Given the description of an element on the screen output the (x, y) to click on. 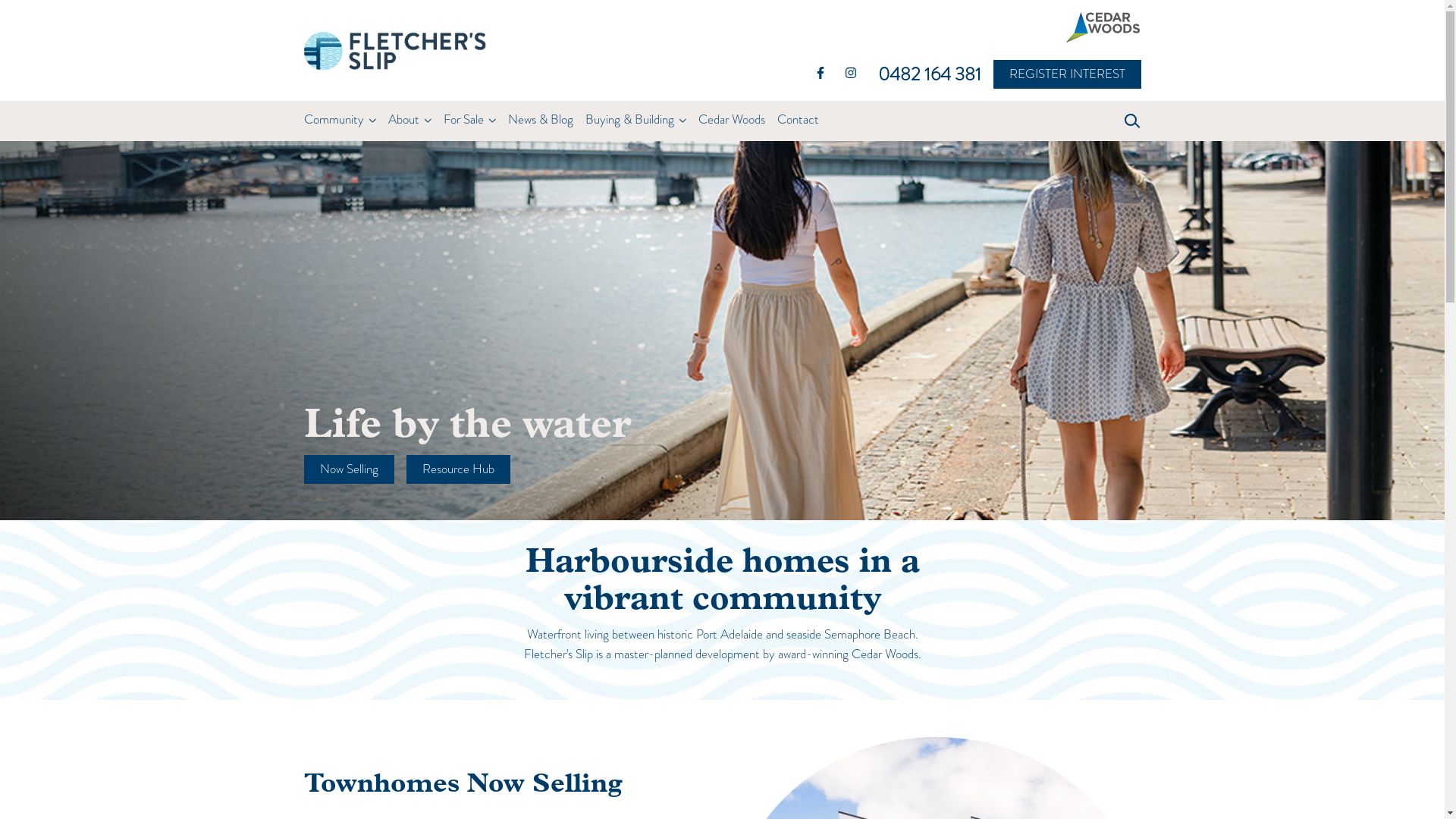
Contact Element type: text (797, 120)
Cedar Woods Element type: text (730, 120)
Resource Hub Element type: text (458, 469)
For Sale Element type: text (462, 120)
Community Element type: text (333, 120)
0482 164 381 Element type: text (929, 73)
News & Blog Element type: text (540, 120)
Now Selling Element type: text (348, 469)
Buying & Building Element type: text (629, 120)
REGISTER INTEREST Element type: text (1067, 73)
About Element type: text (403, 120)
